Given the description of an element on the screen output the (x, y) to click on. 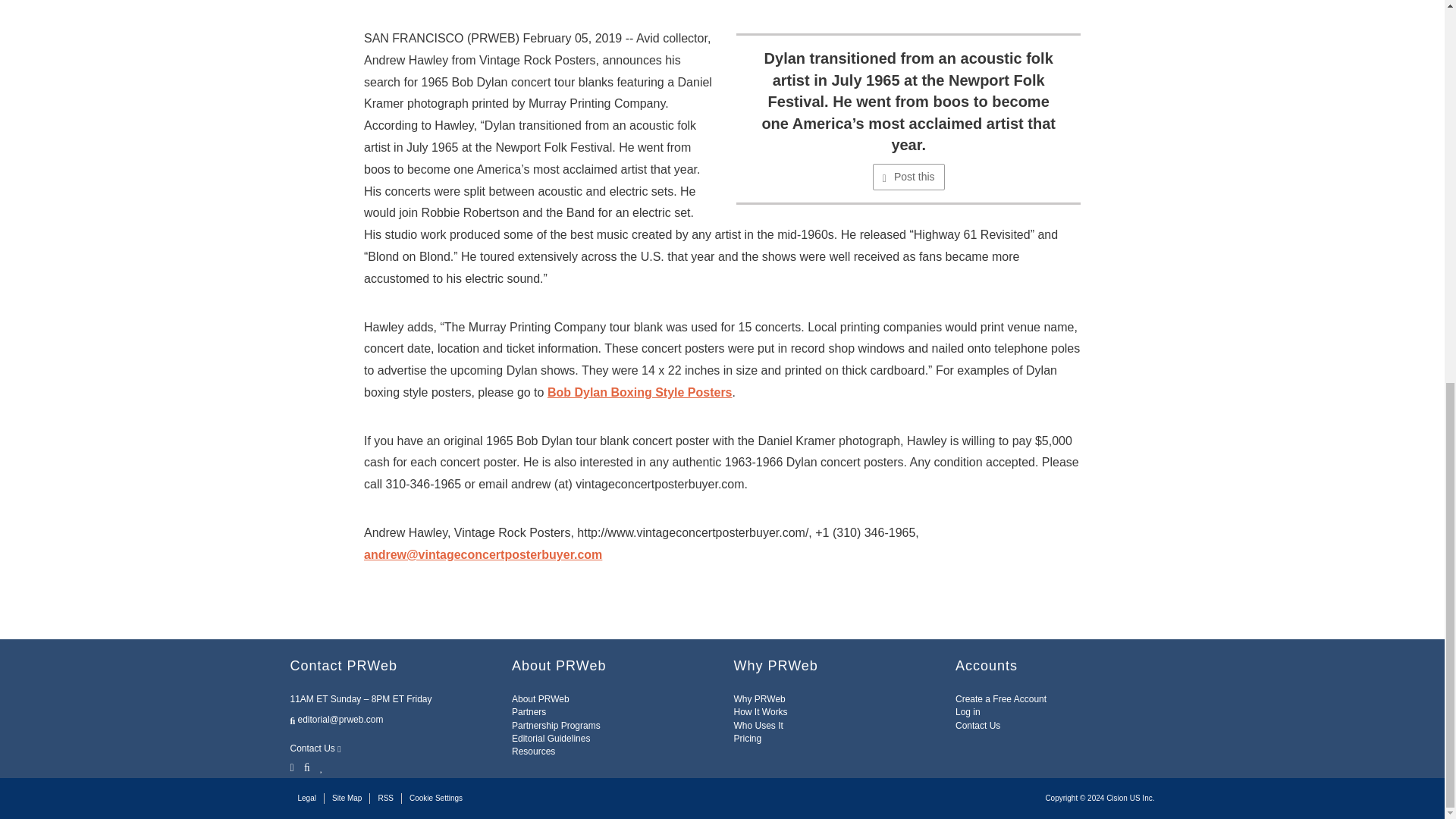
Twitter (293, 766)
Partnership Programs (555, 725)
About PRWeb (540, 698)
Partners (529, 711)
Facebook (306, 766)
LinkedIn (321, 766)
Why PRWeb (759, 698)
Resources (533, 751)
Editorial Guidelines (550, 738)
